Given the description of an element on the screen output the (x, y) to click on. 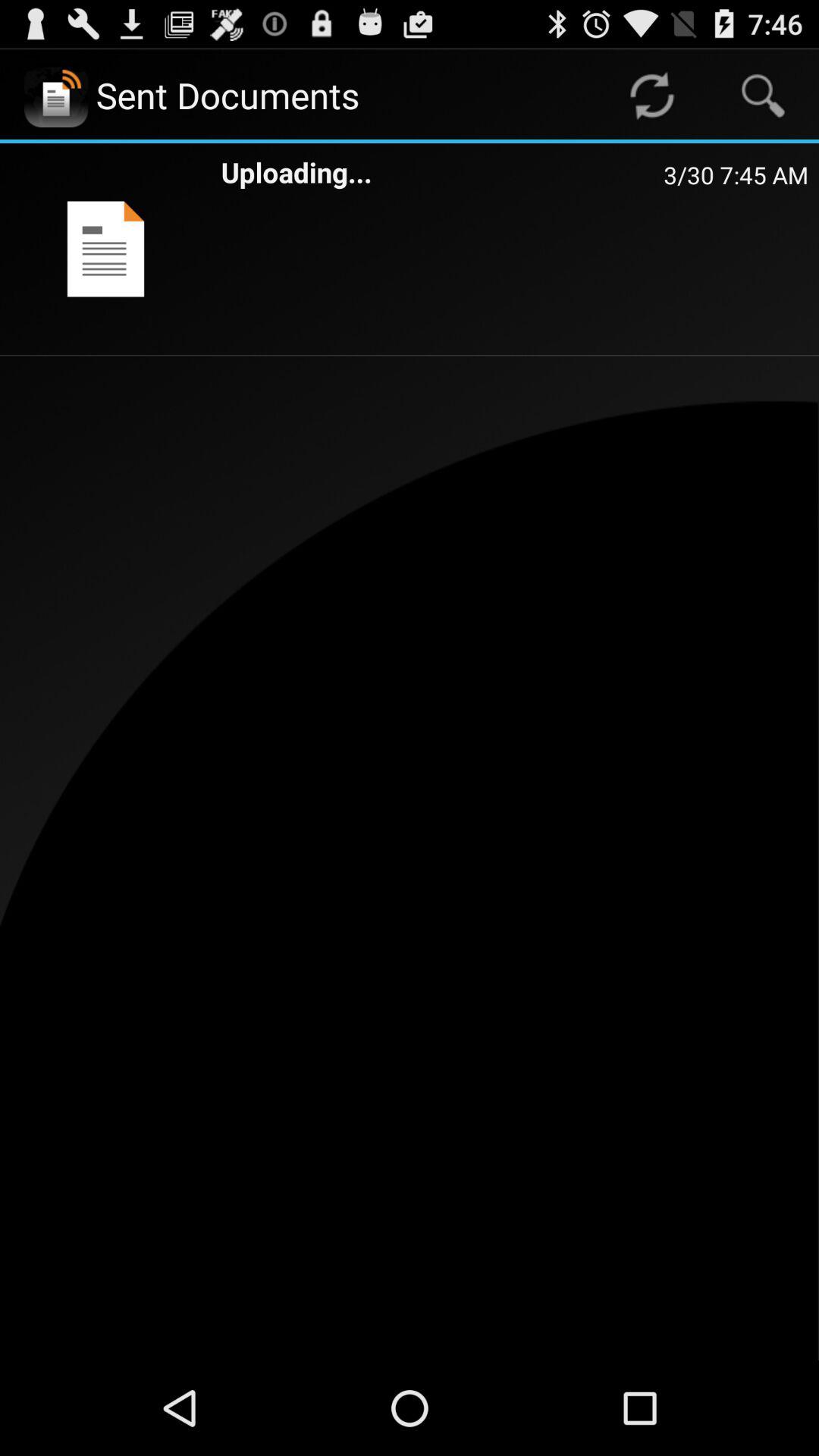
tap the item next to sent documents app (651, 95)
